Given the description of an element on the screen output the (x, y) to click on. 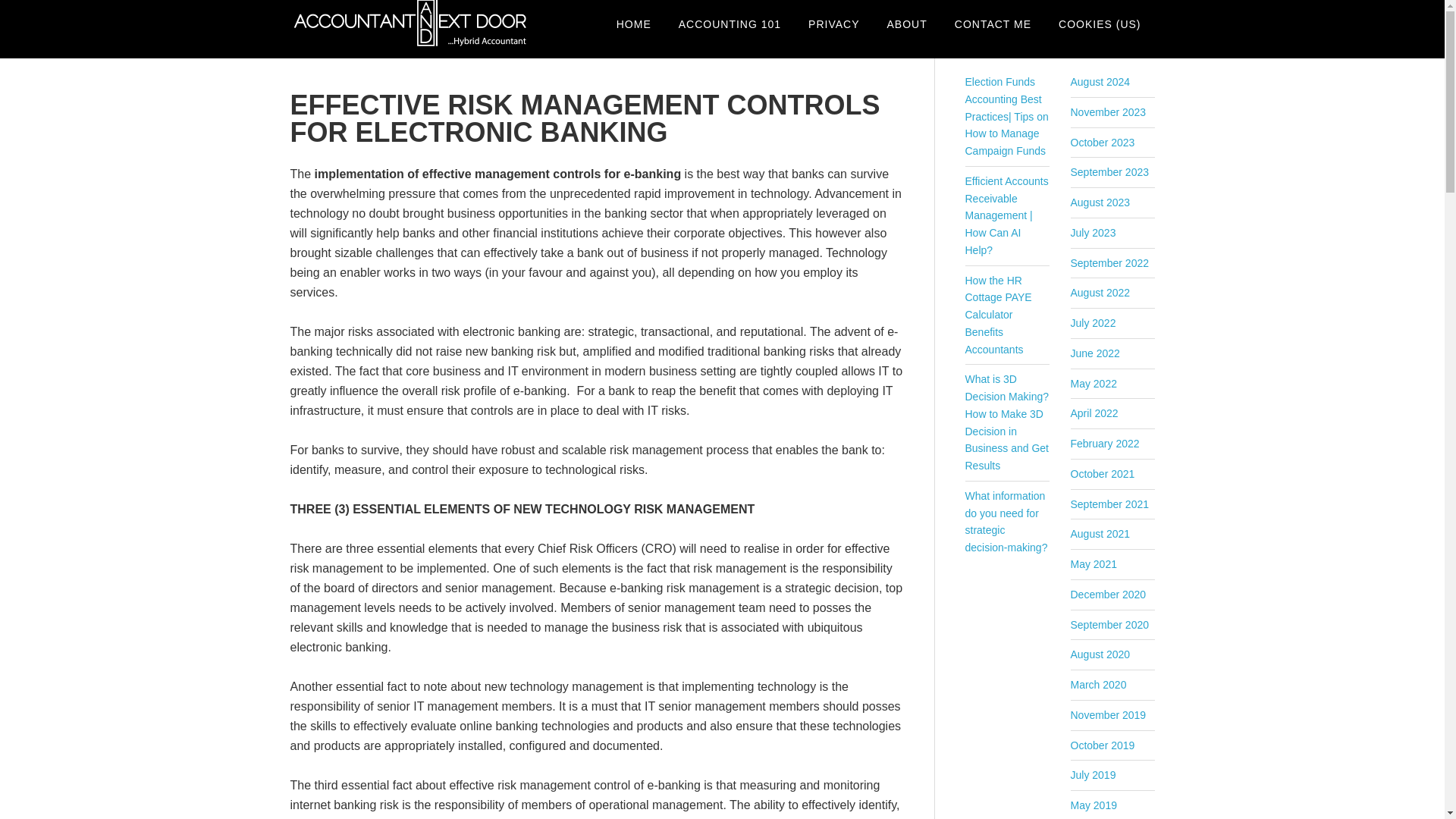
ABOUT (906, 24)
Accounting 101 Articles (729, 24)
July 2023 (1093, 232)
August 2022 (1100, 292)
CONTACT ME (992, 24)
ACCOUNTING 101 (729, 24)
September 2023 (1110, 172)
August 2023 (1100, 202)
Cookies (1099, 24)
HOME (633, 24)
